Given the description of an element on the screen output the (x, y) to click on. 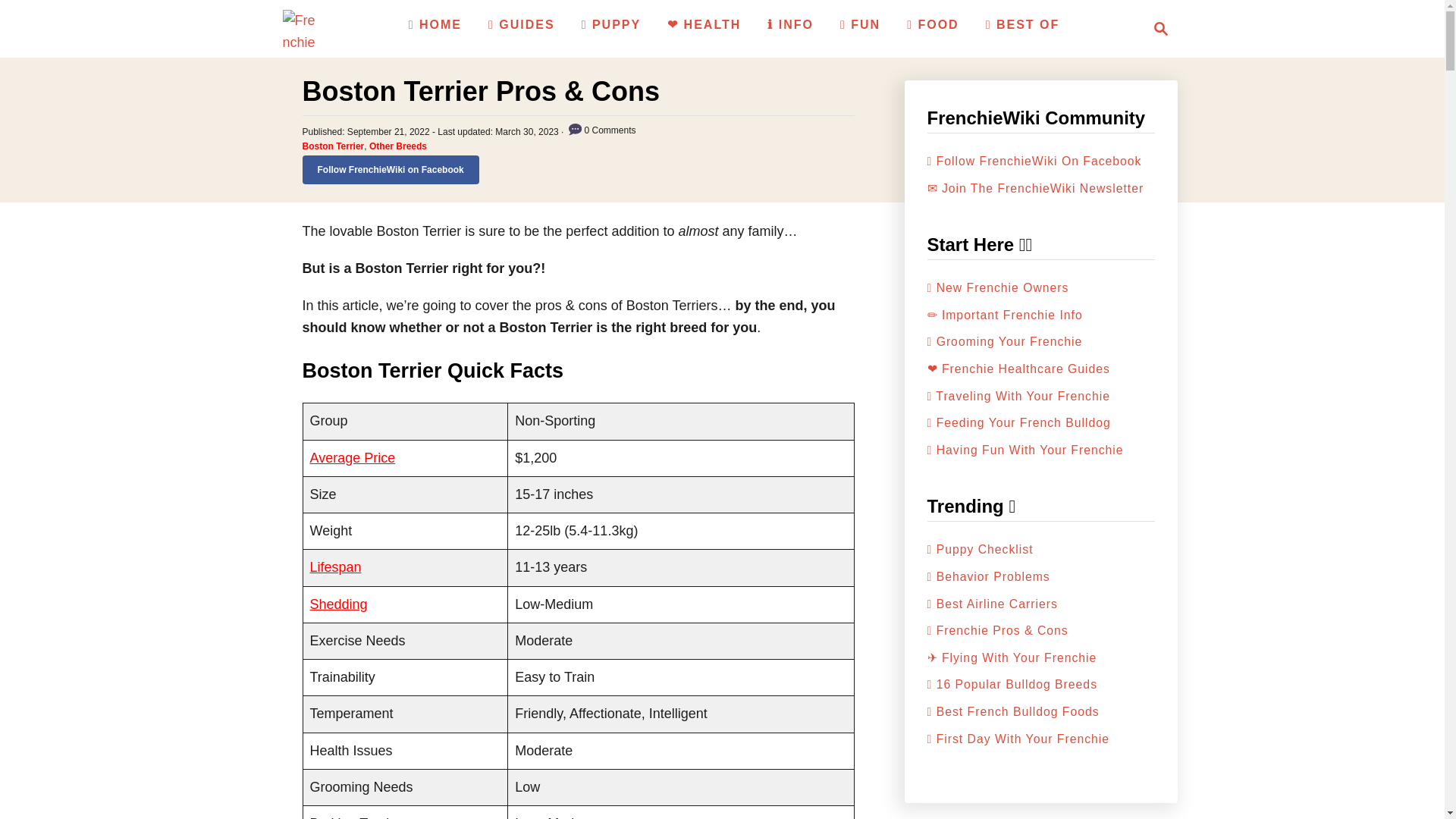
Other Breeds (397, 145)
FrenchieWiki (301, 28)
Average Price (351, 458)
Lifespan (334, 566)
Shedding (337, 604)
Boston Terrier (332, 145)
Follow FrenchieWiki on Facebook (390, 169)
Magnifying Glass (1155, 28)
